Given the description of an element on the screen output the (x, y) to click on. 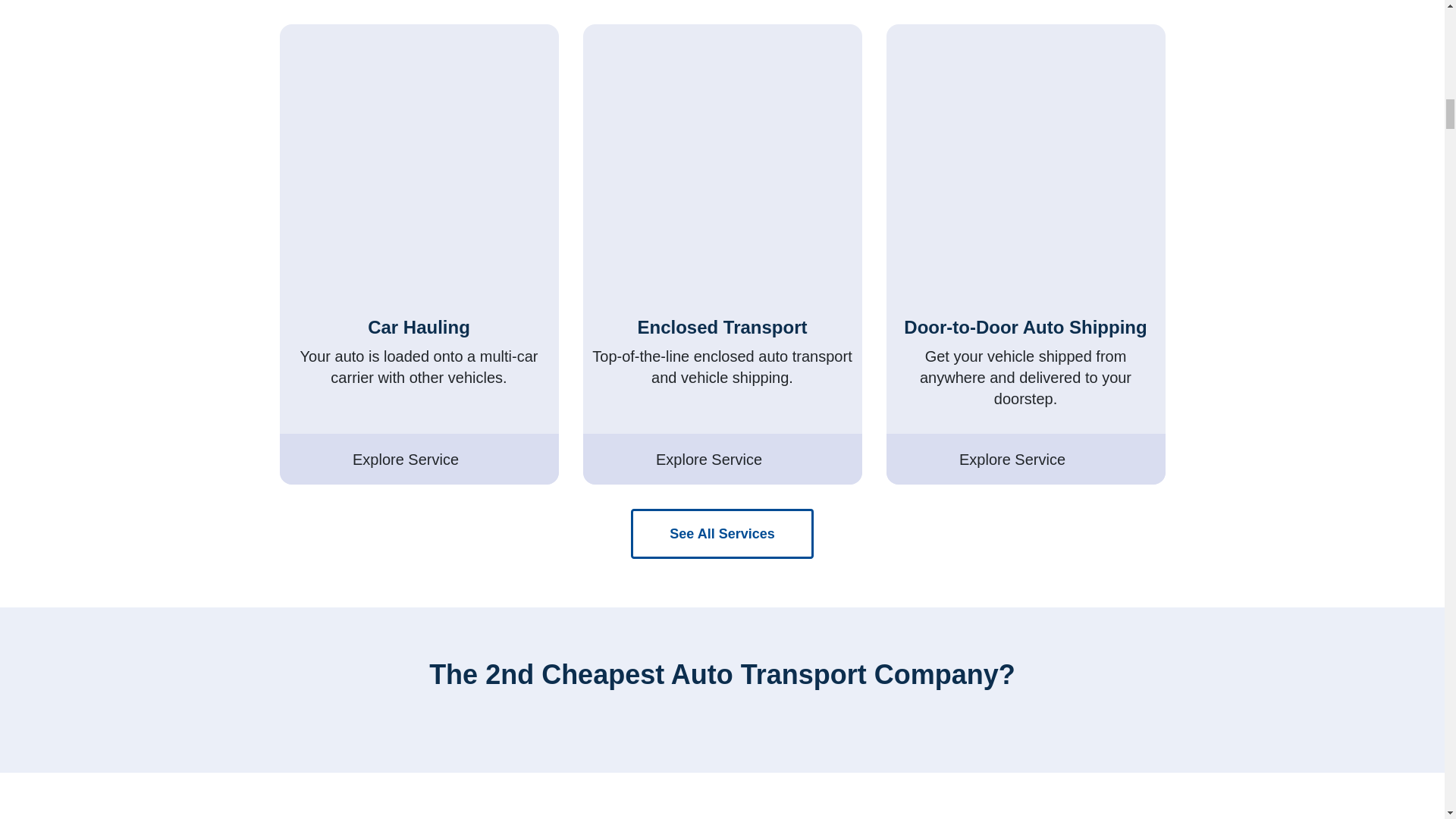
Explore Service (418, 459)
See All Services (721, 533)
Explore Service (1024, 459)
See All Services (721, 533)
Explore Service (721, 459)
